Given the description of an element on the screen output the (x, y) to click on. 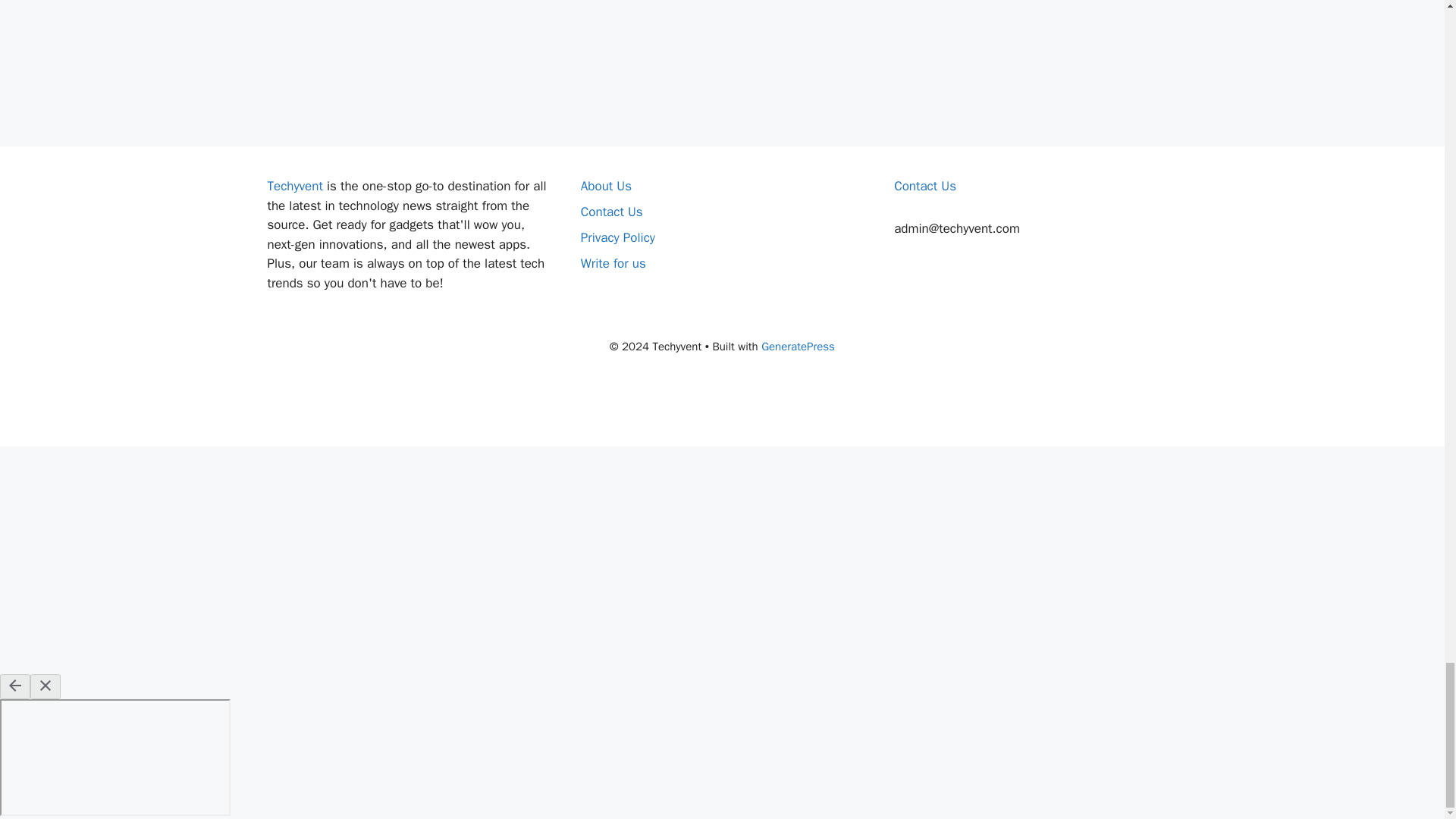
Write for us (613, 263)
Contact Us (611, 211)
About Us (605, 186)
Privacy Policy (617, 237)
GeneratePress (797, 345)
Techyvent (293, 186)
